Given the description of an element on the screen output the (x, y) to click on. 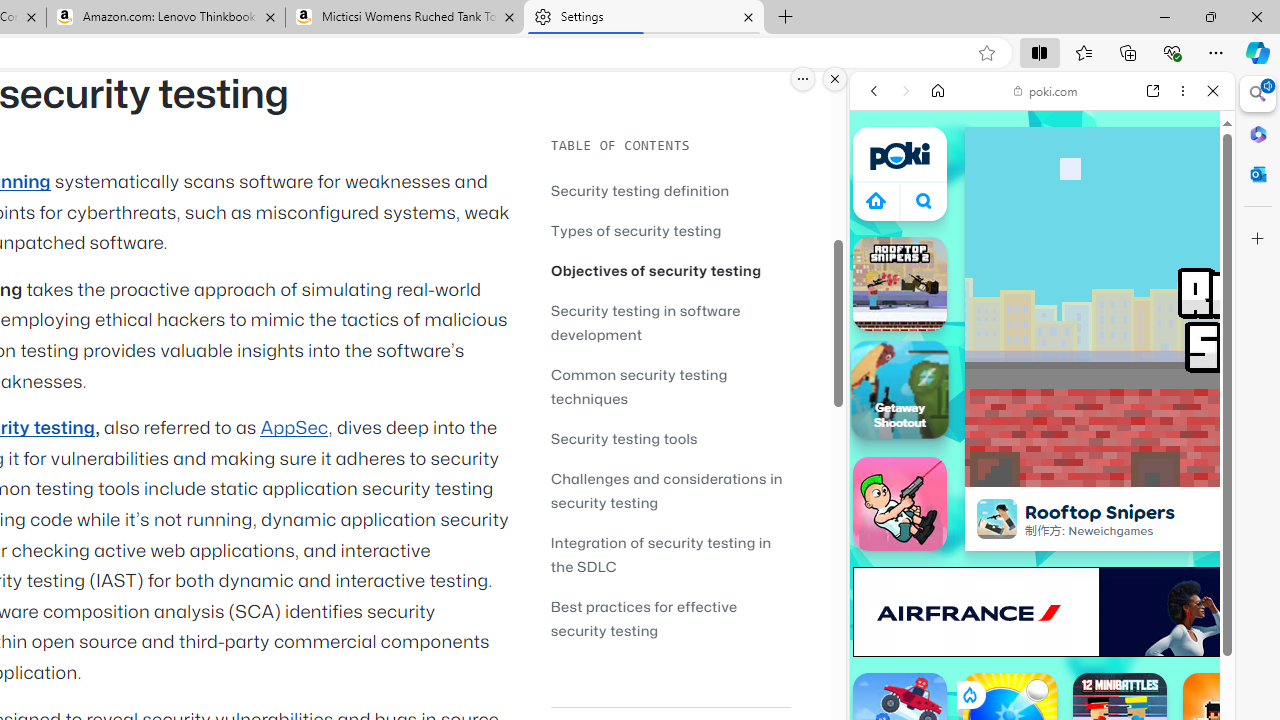
Security testing in software development (670, 322)
Two Player Games (1042, 567)
Car Games (1042, 469)
SEARCH TOOLS (1093, 228)
Security testing tools (670, 438)
Common security testing techniques (639, 385)
Best practices for effective security testing (670, 618)
